Given the description of an element on the screen output the (x, y) to click on. 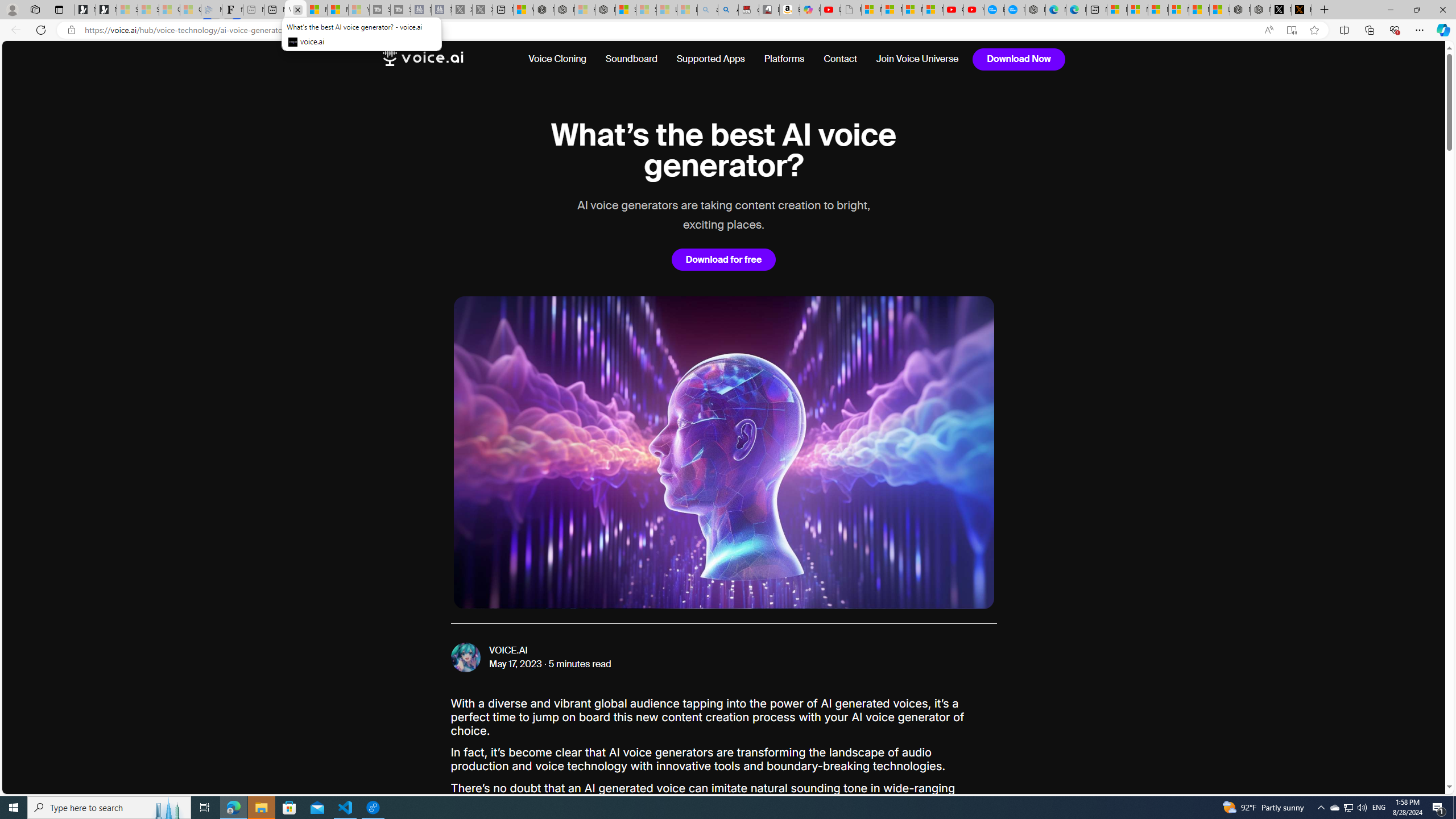
VOICE.AI (508, 650)
The most popular Google 'how to' searches (1014, 9)
Platforms (783, 59)
Amazon Echo Dot PNG - Search Images (728, 9)
Soundboard (630, 59)
Day 1: Arriving in Yemen (surreal to be here) - YouTube (830, 9)
Contact (839, 59)
